Given the description of an element on the screen output the (x, y) to click on. 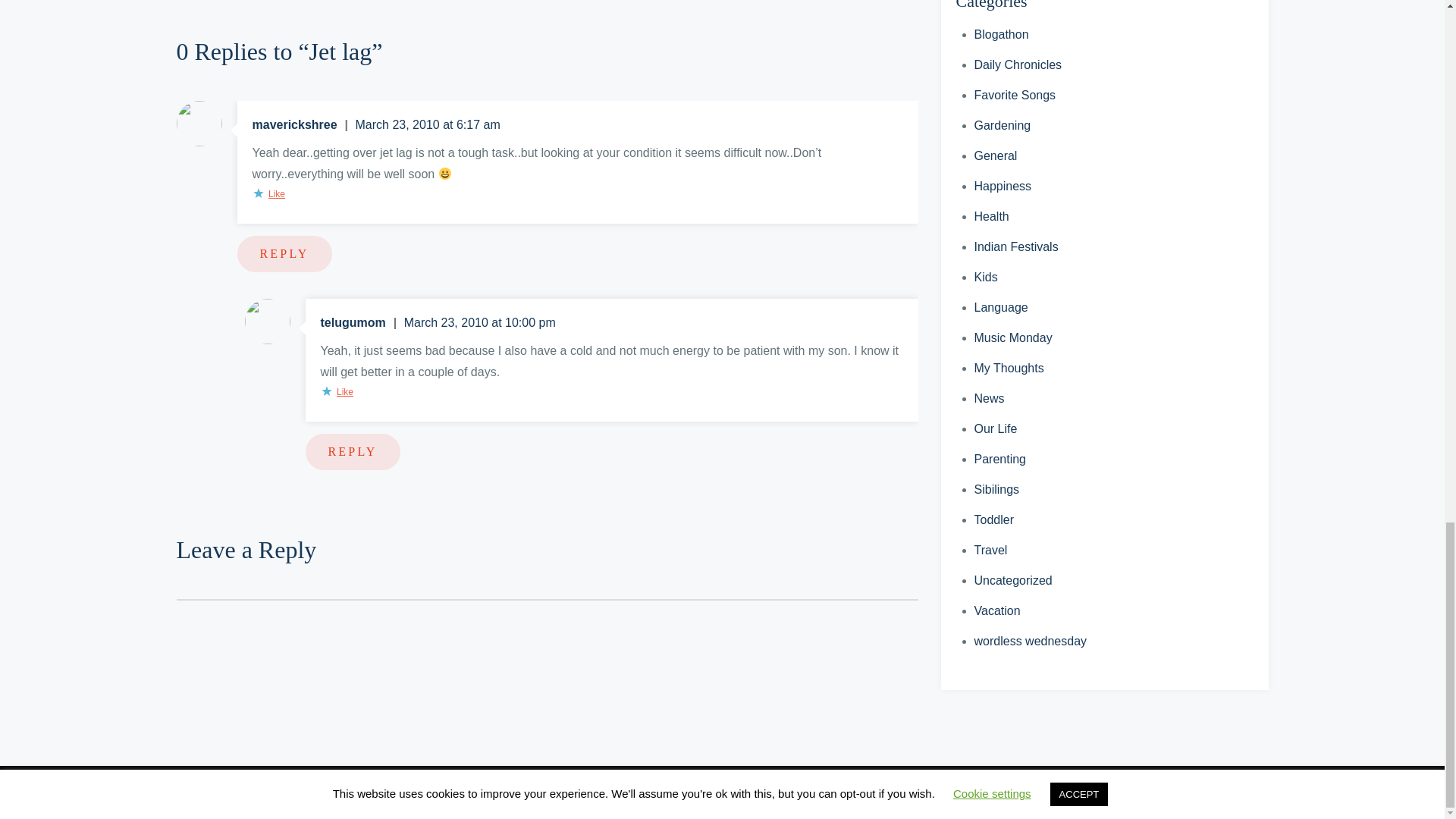
maverickshree (295, 124)
March 23, 2010 at 10:00 pm (480, 322)
March 23, 2010 at 6:17 am (427, 124)
telugumom (354, 322)
REPLY (351, 452)
REPLY (283, 253)
